Given the description of an element on the screen output the (x, y) to click on. 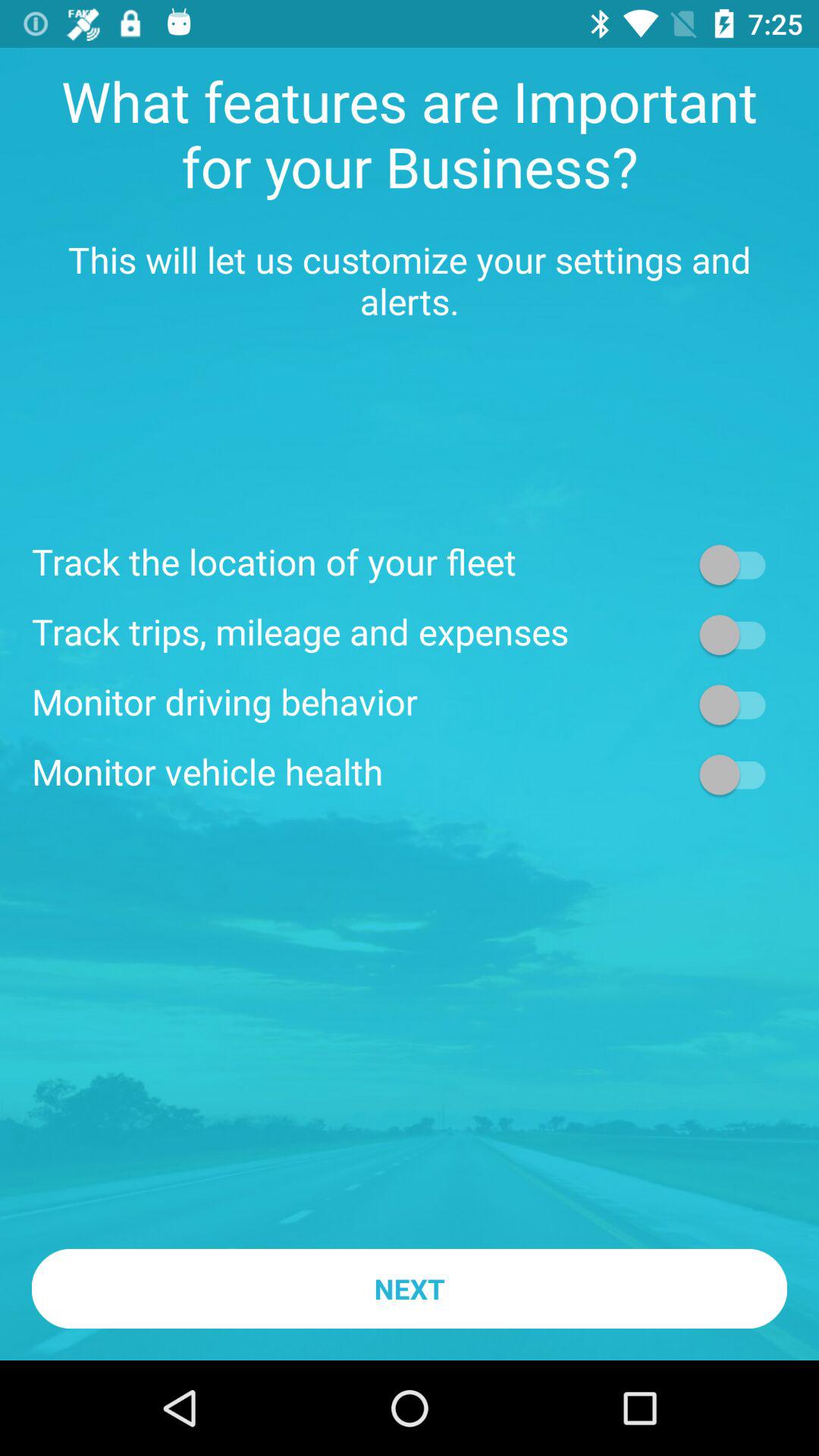
turn on/off track location (739, 564)
